Given the description of an element on the screen output the (x, y) to click on. 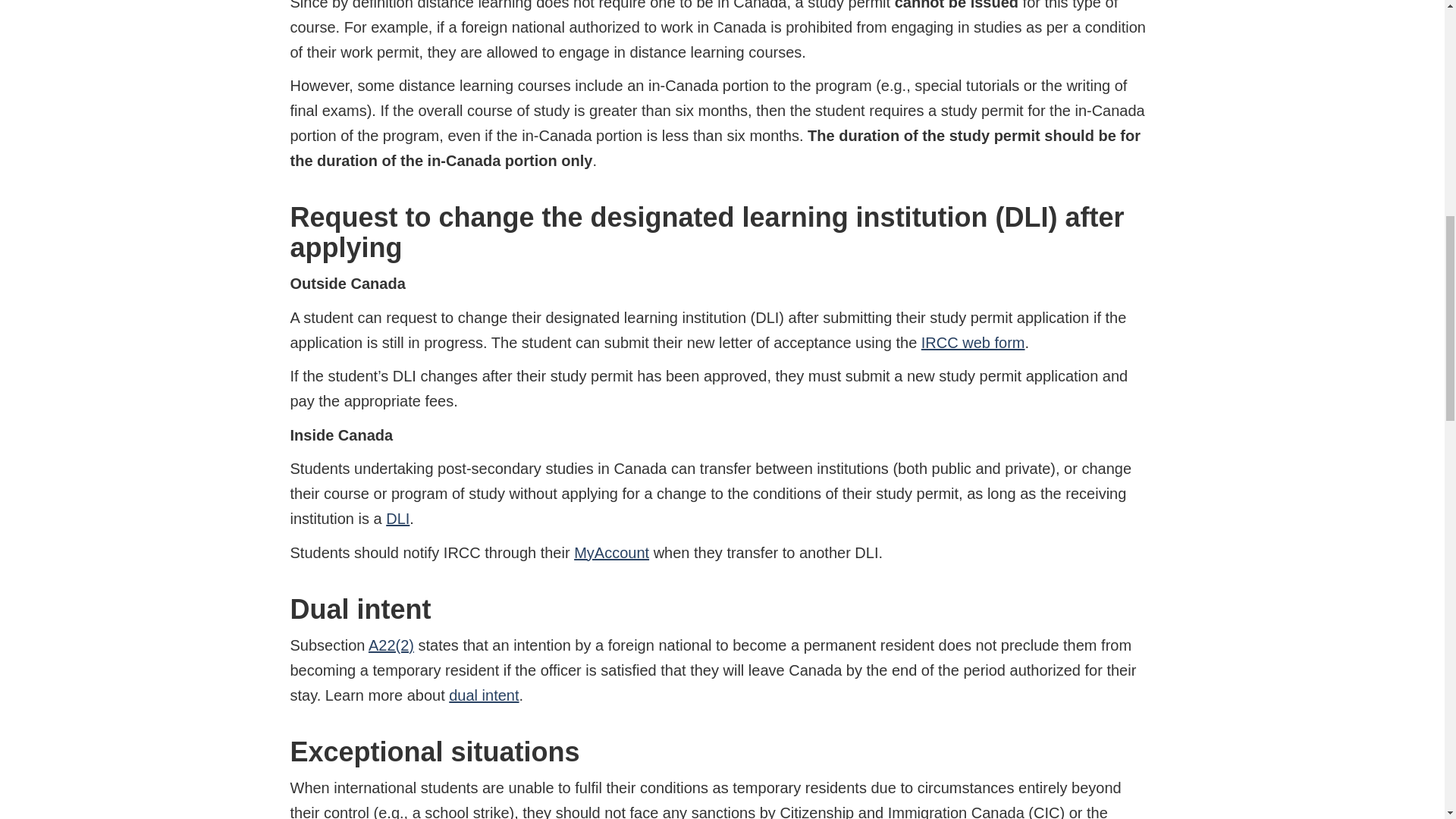
MyAccount (611, 552)
DLI (397, 518)
IRCC web form (973, 342)
dual intent (483, 695)
